Given the description of an element on the screen output the (x, y) to click on. 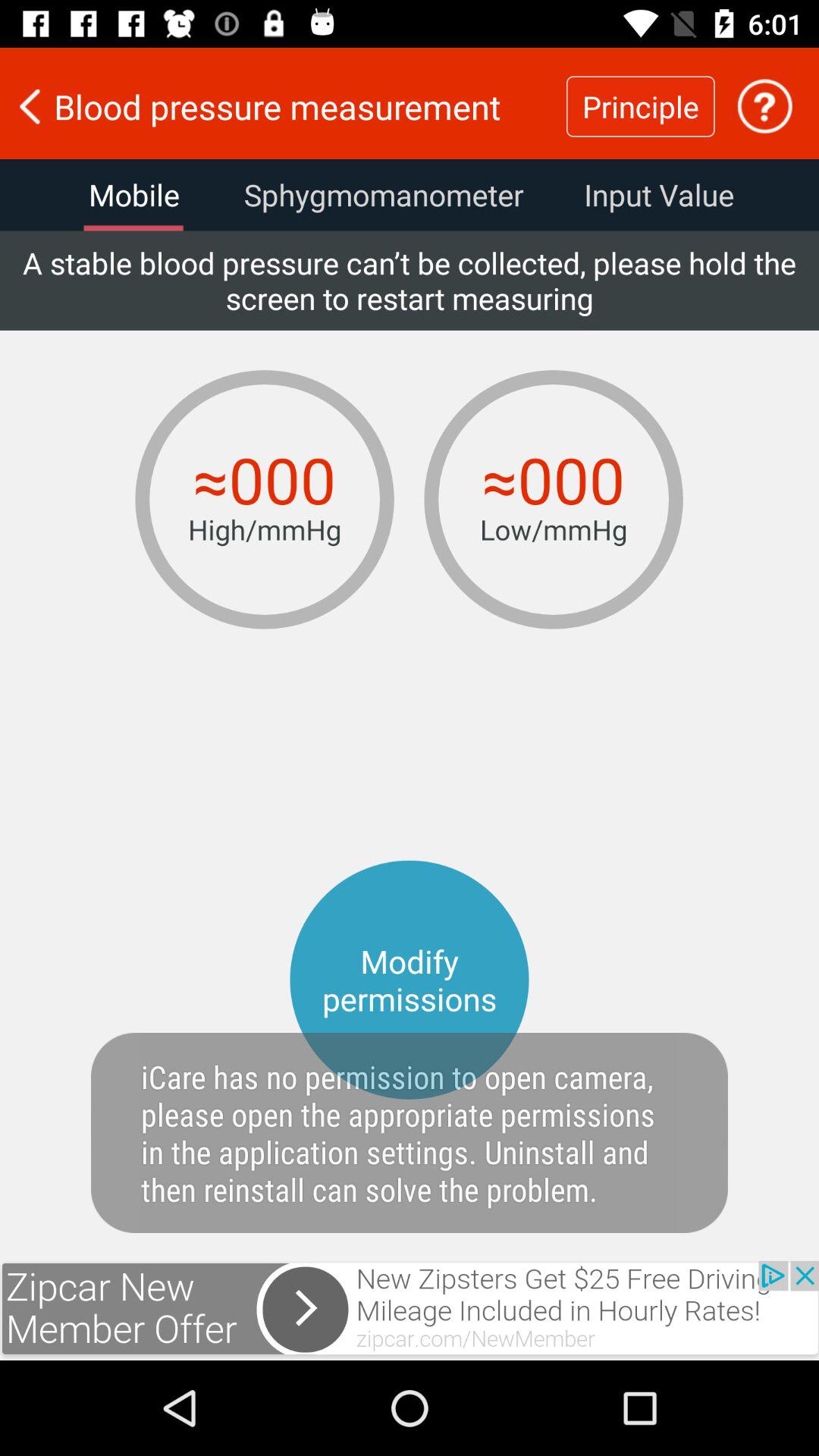
click advertisement banner (409, 1310)
